Given the description of an element on the screen output the (x, y) to click on. 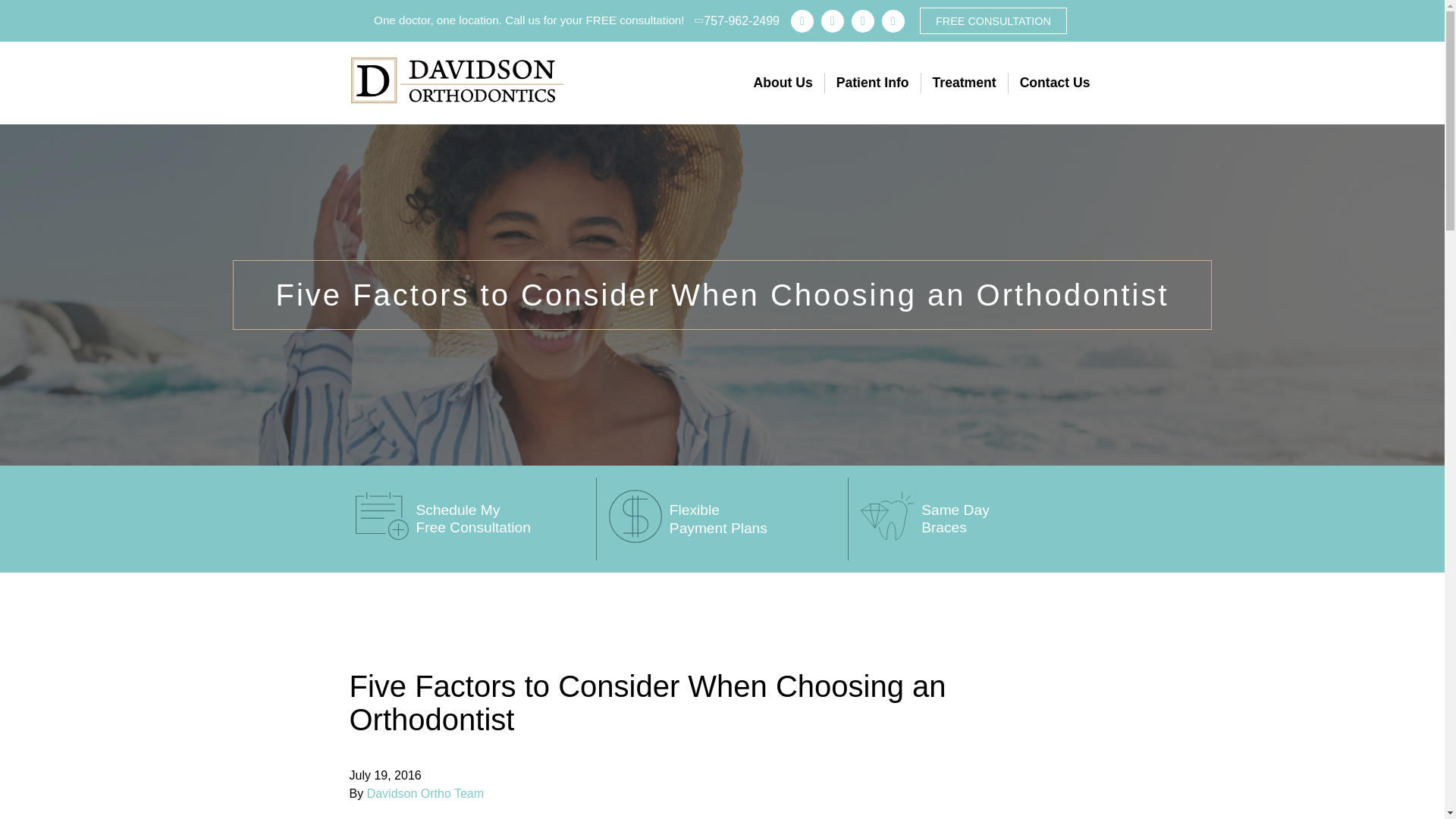
Contact Us (1054, 82)
About Us (783, 82)
757-962-2499 (736, 19)
Davidson Ortho Team (424, 793)
FREE CONSULTATION (993, 20)
Patient Info (872, 82)
Treatment (963, 82)
